Given the description of an element on the screen output the (x, y) to click on. 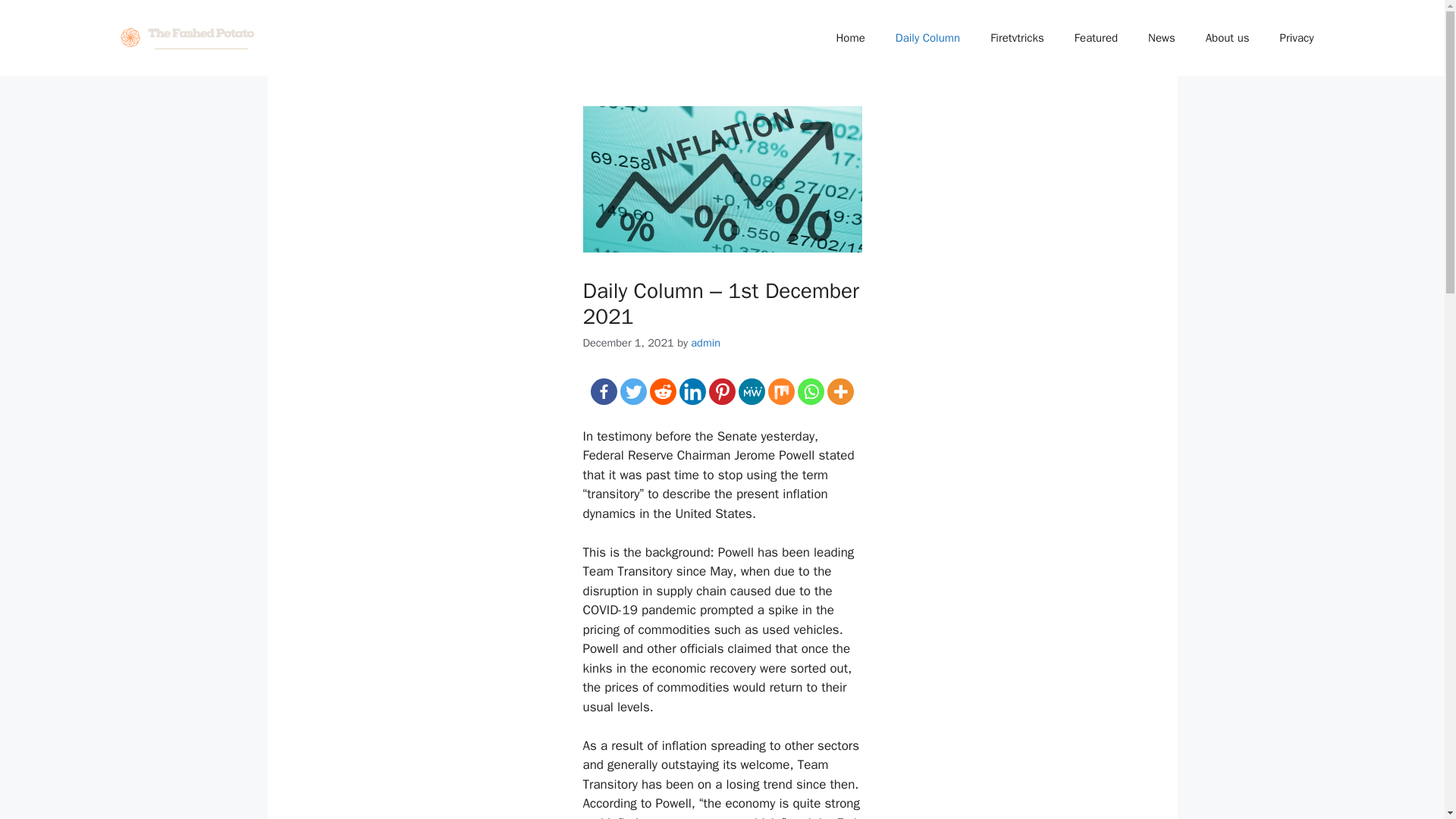
Reddit (663, 391)
Mix (781, 391)
Facebook (604, 391)
Featured (1095, 37)
News (1161, 37)
Twitter (633, 391)
View all posts by admin (705, 341)
Whatsapp (810, 391)
Home (850, 37)
More (840, 391)
